Given the description of an element on the screen output the (x, y) to click on. 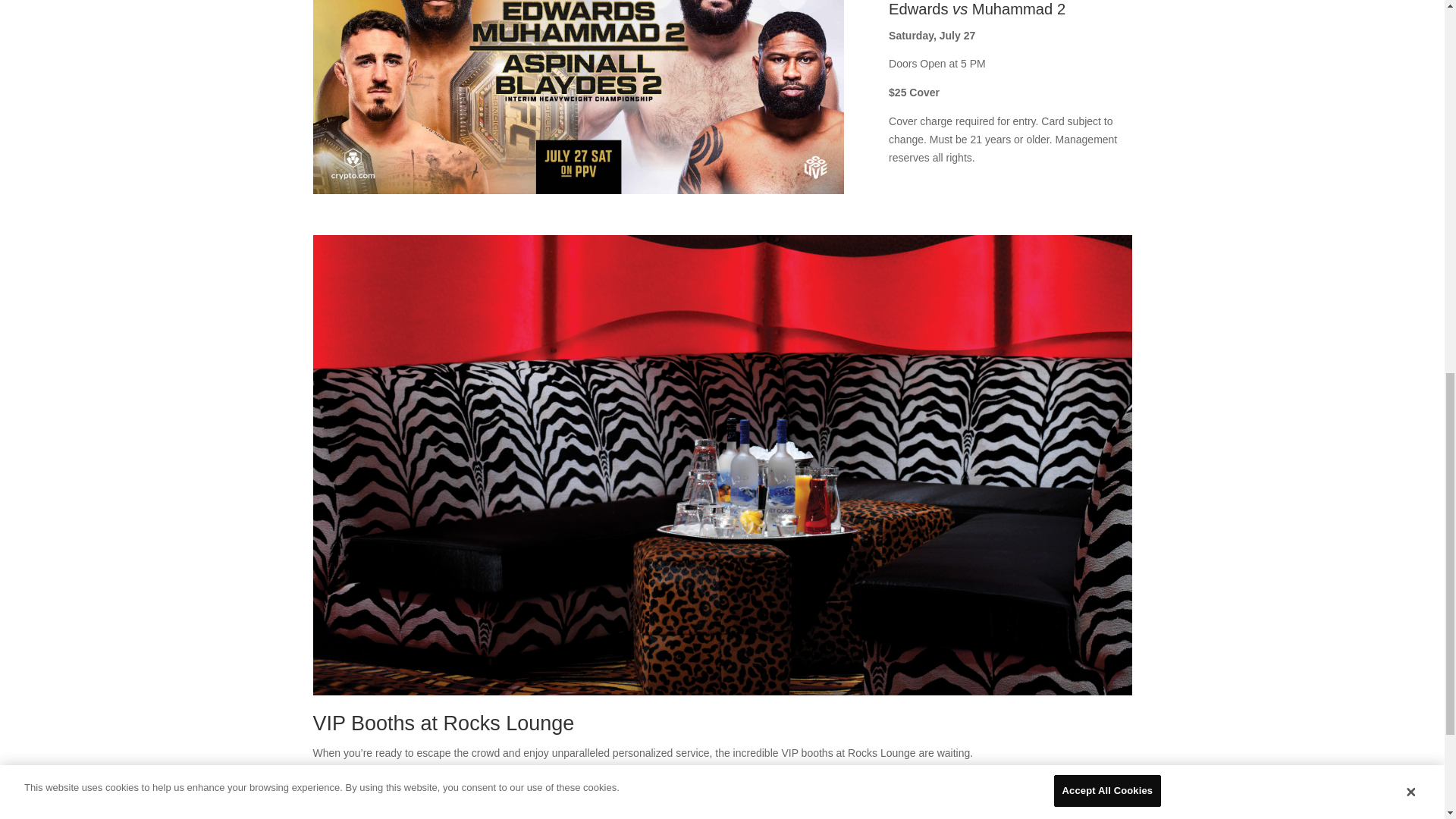
UFC 304 (578, 97)
